Given the description of an element on the screen output the (x, y) to click on. 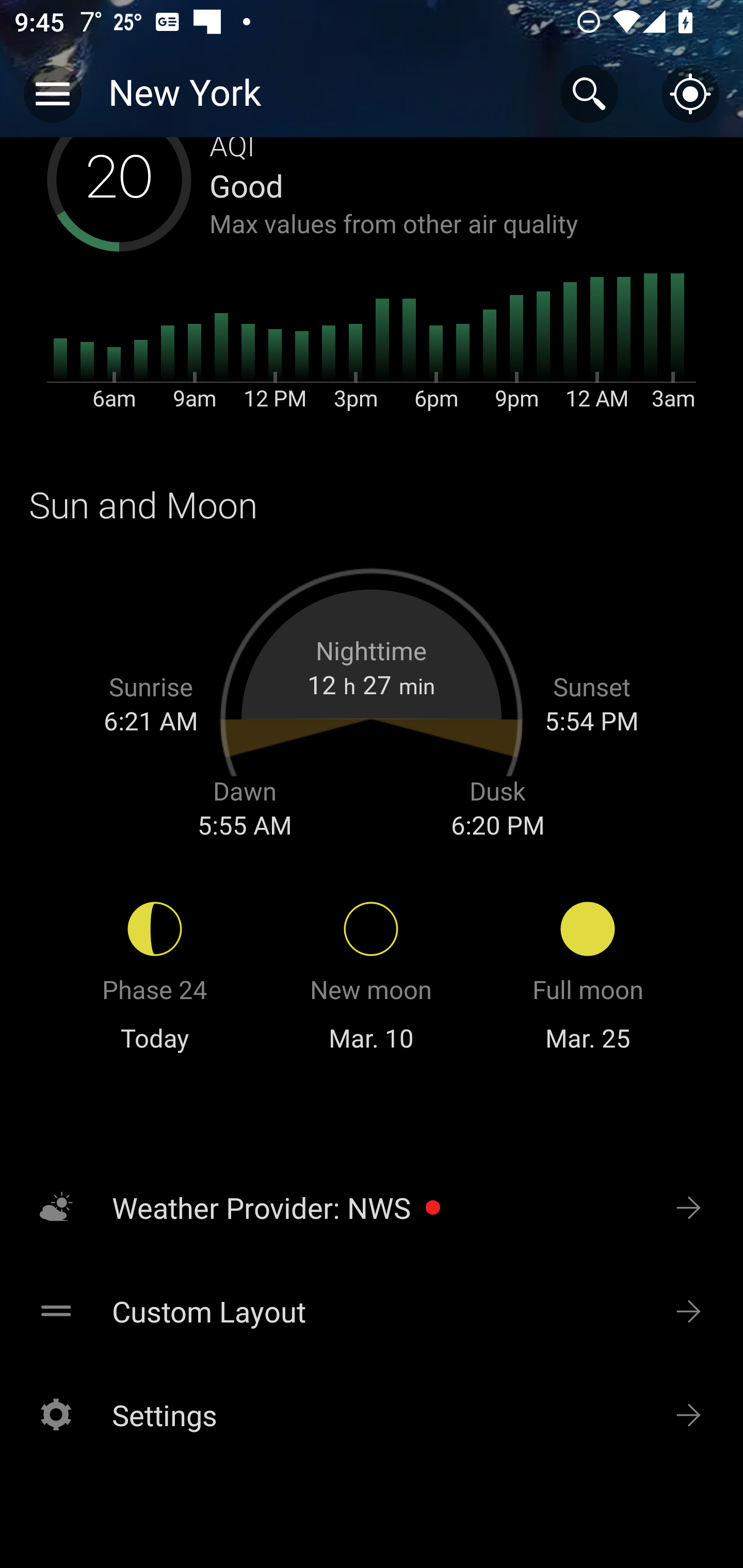
 Weather Provider: NWS  (371, 1207)
 Custom Layout  (371, 1310)
 Settings  (371, 1414)
